Given the description of an element on the screen output the (x, y) to click on. 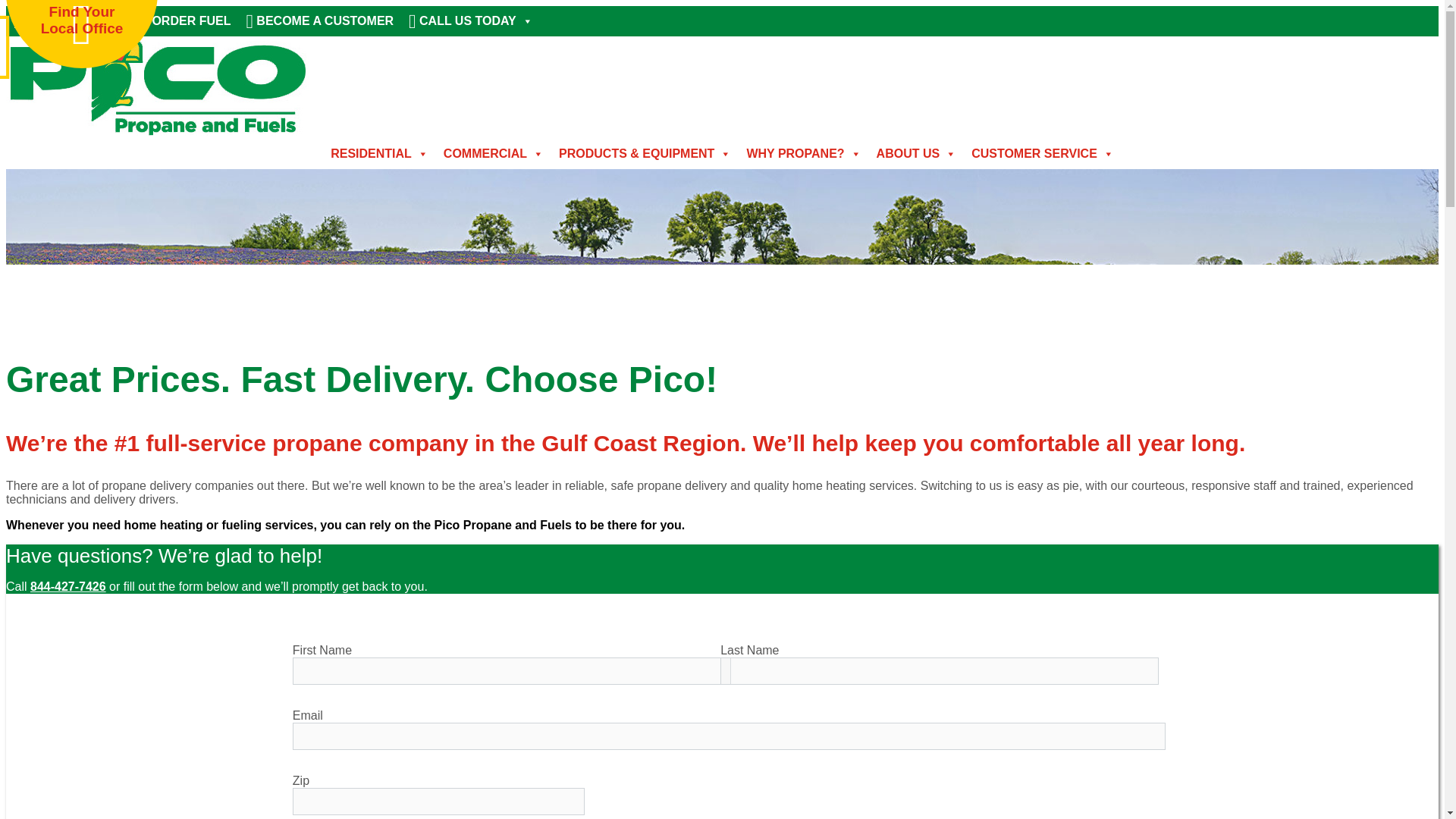
home (156, 131)
BECOME A CUSTOMER (319, 20)
CALL US TODAY (470, 20)
ORDER FUEL (185, 20)
RESIDENTIAL (379, 153)
ACCOUNT LOGIN (69, 20)
COMMERCIAL (493, 153)
